Given the description of an element on the screen output the (x, y) to click on. 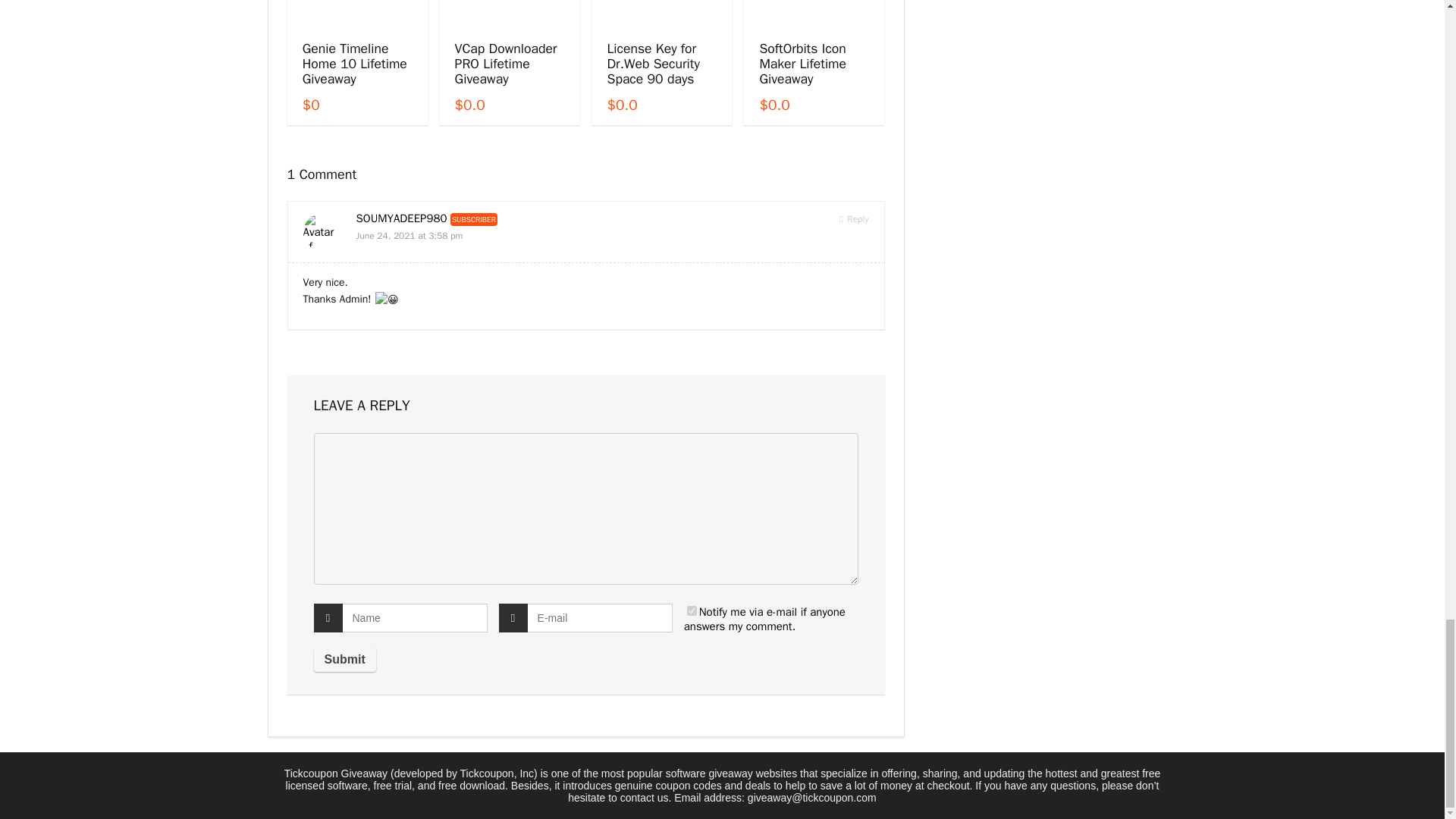
on (692, 610)
Submit (344, 659)
Genie Timeline Home 10 Lifetime Giveaway (354, 63)
